Given the description of an element on the screen output the (x, y) to click on. 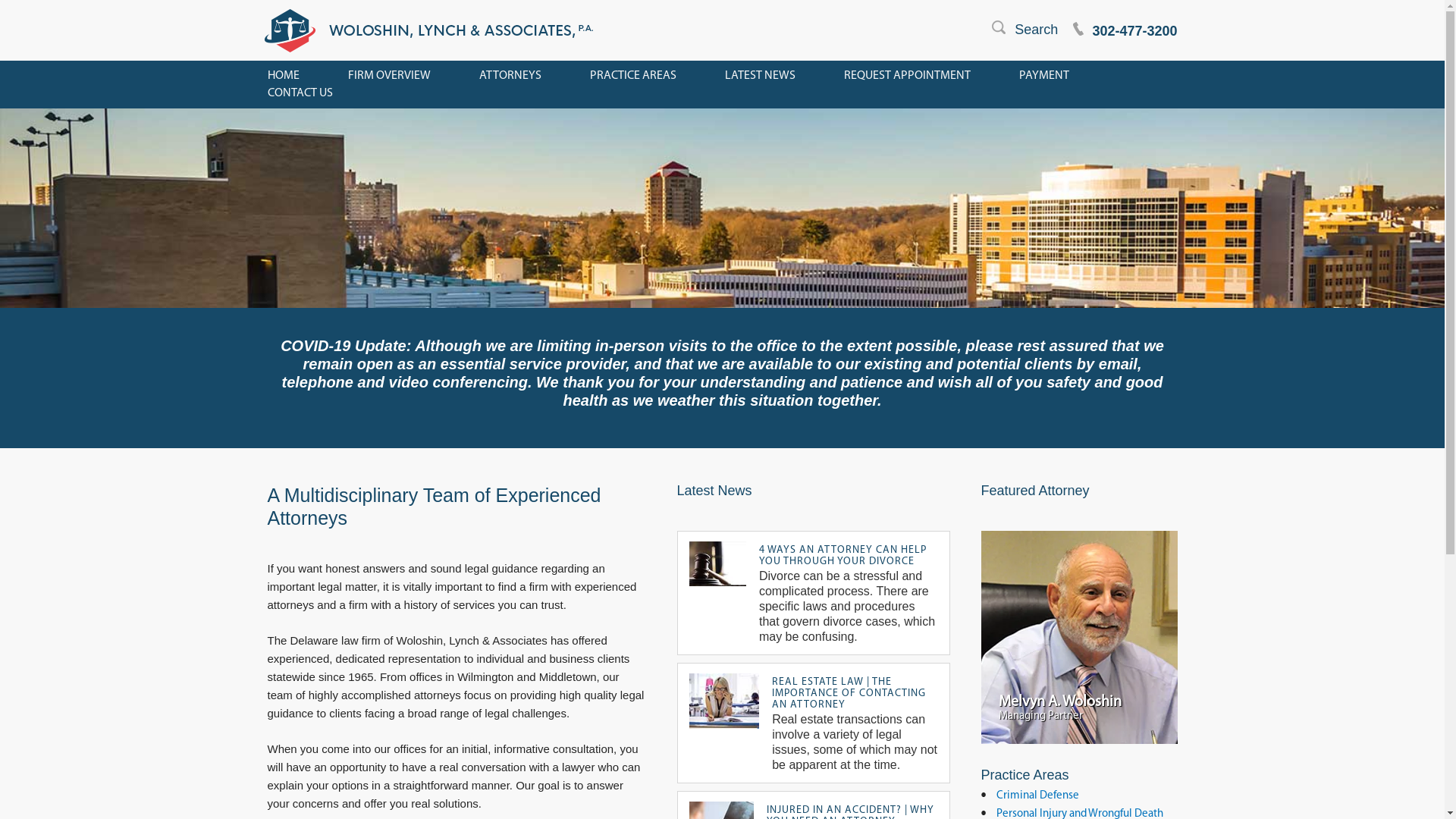
302-477-3200 Element type: text (1116, 40)
LATEST NEWS Element type: text (759, 75)
4 Ways an Attorney Can Help You Through Your Divorce Element type: hover (716, 563)
REAL ESTATE LAW | THE IMPORTANCE OF CONTACTING AN ATTORNEY Element type: text (848, 693)
logo Element type: hover (427, 30)
Home Element type: hover (1079, 636)
Criminal Defense Element type: text (1037, 795)
Real Estate Law | The Importance Of Contacting an Attorney Element type: hover (723, 700)
Search Element type: text (1016, 40)
FIRM OVERVIEW Element type: text (388, 75)
HOME Element type: text (282, 75)
ATTORNEYS Element type: text (510, 75)
REQUEST APPOINTMENT Element type: text (906, 75)
PAYMENT Element type: text (1044, 75)
CONTACT US Element type: text (299, 93)
PRACTICE AREAS Element type: text (632, 75)
4 WAYS AN ATTORNEY CAN HELP YOU THROUGH YOUR DIVORCE Element type: text (842, 555)
